Given the description of an element on the screen output the (x, y) to click on. 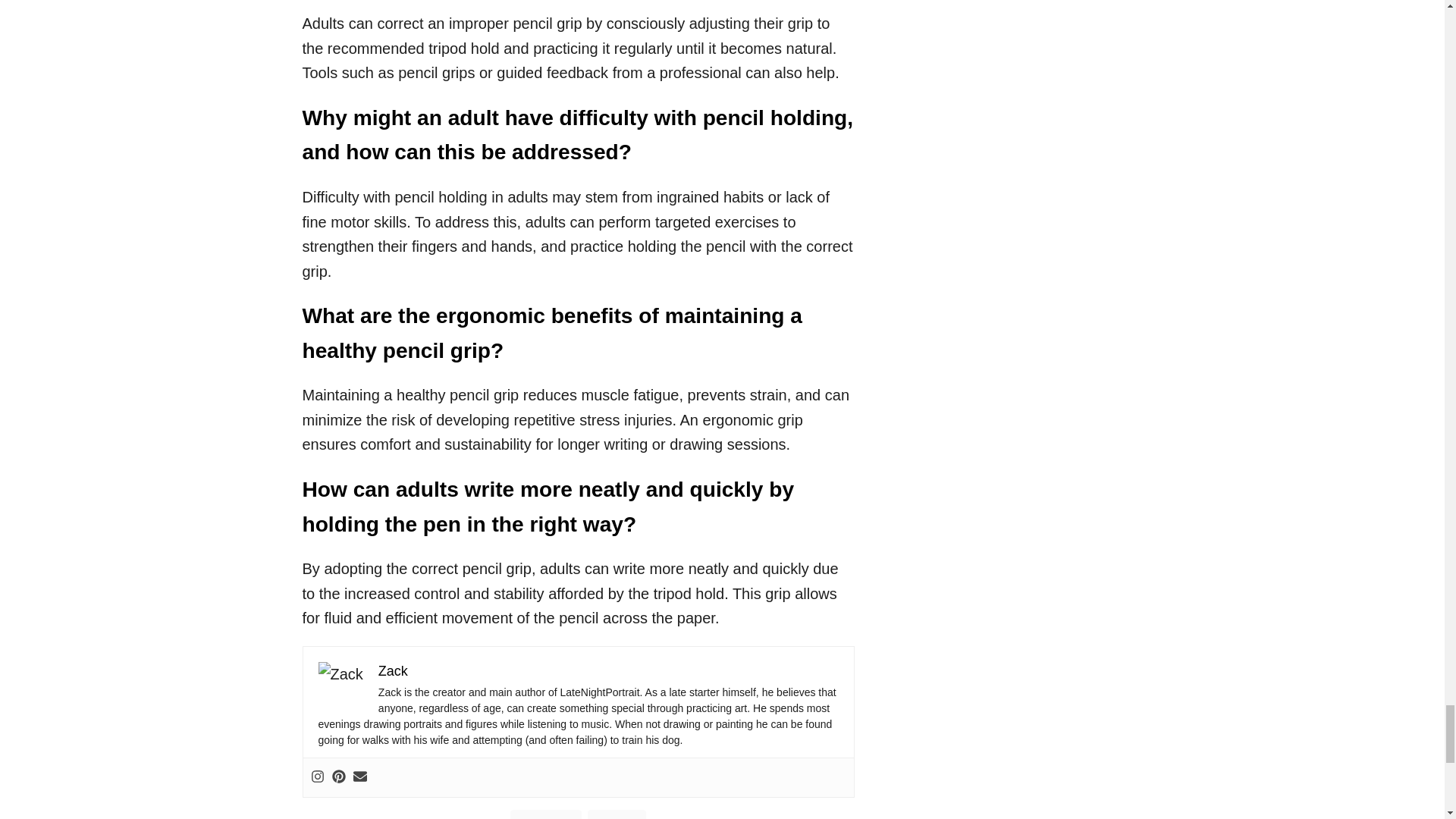
Zack (392, 670)
